Given the description of an element on the screen output the (x, y) to click on. 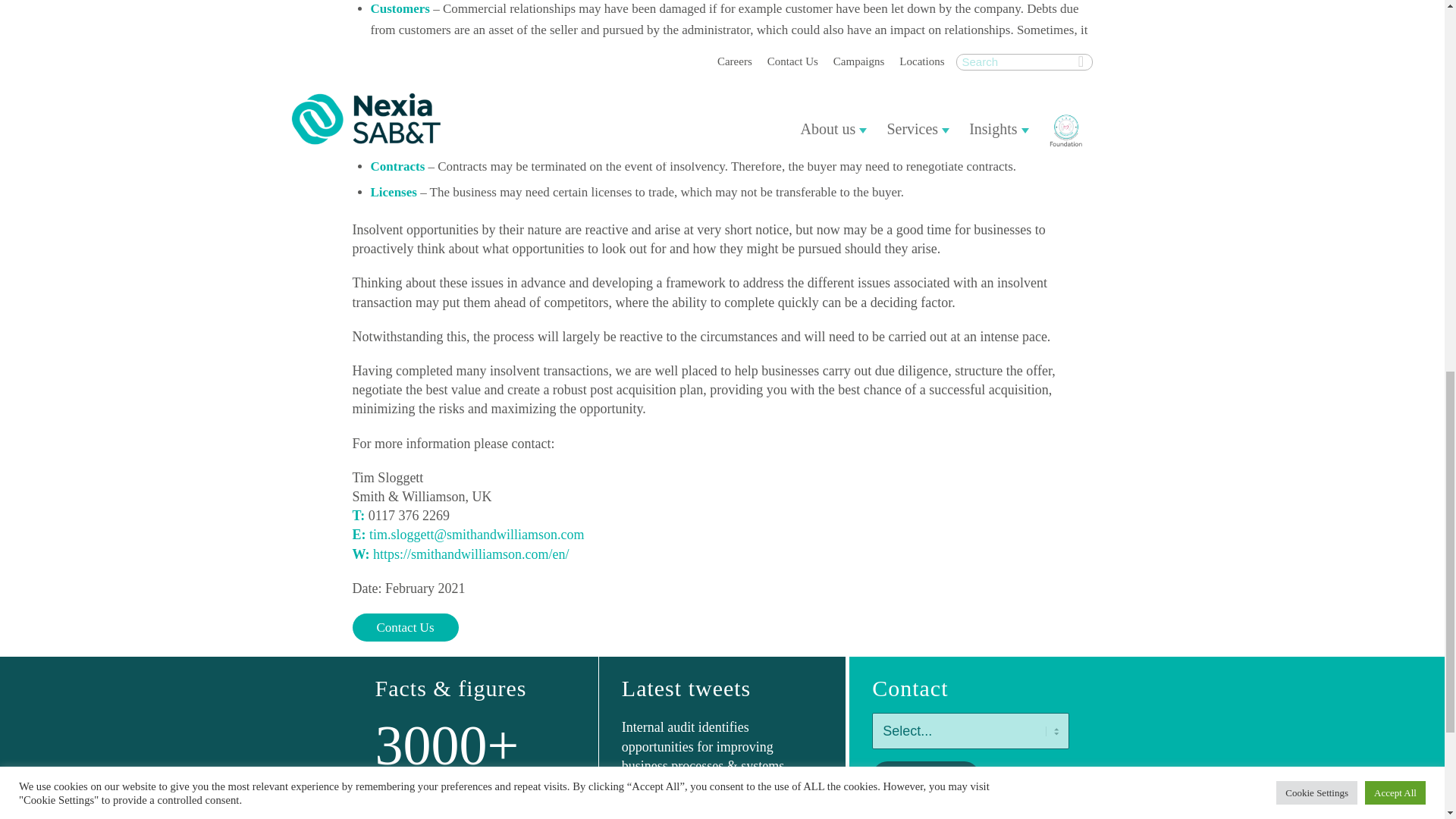
Ask us (925, 776)
